Given the description of an element on the screen output the (x, y) to click on. 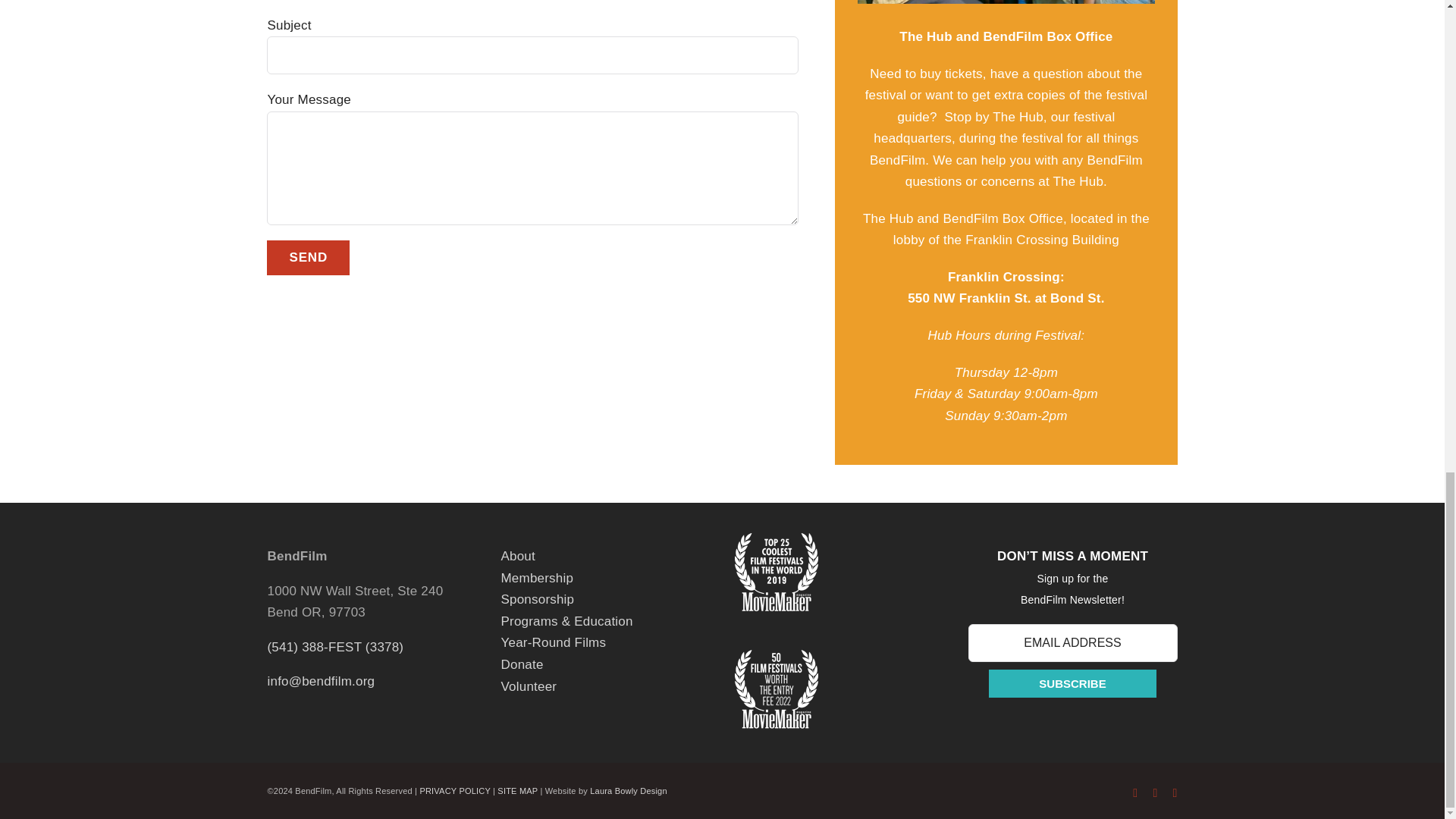
SUBSCRIBE (1072, 683)
Send (307, 257)
